Given the description of an element on the screen output the (x, y) to click on. 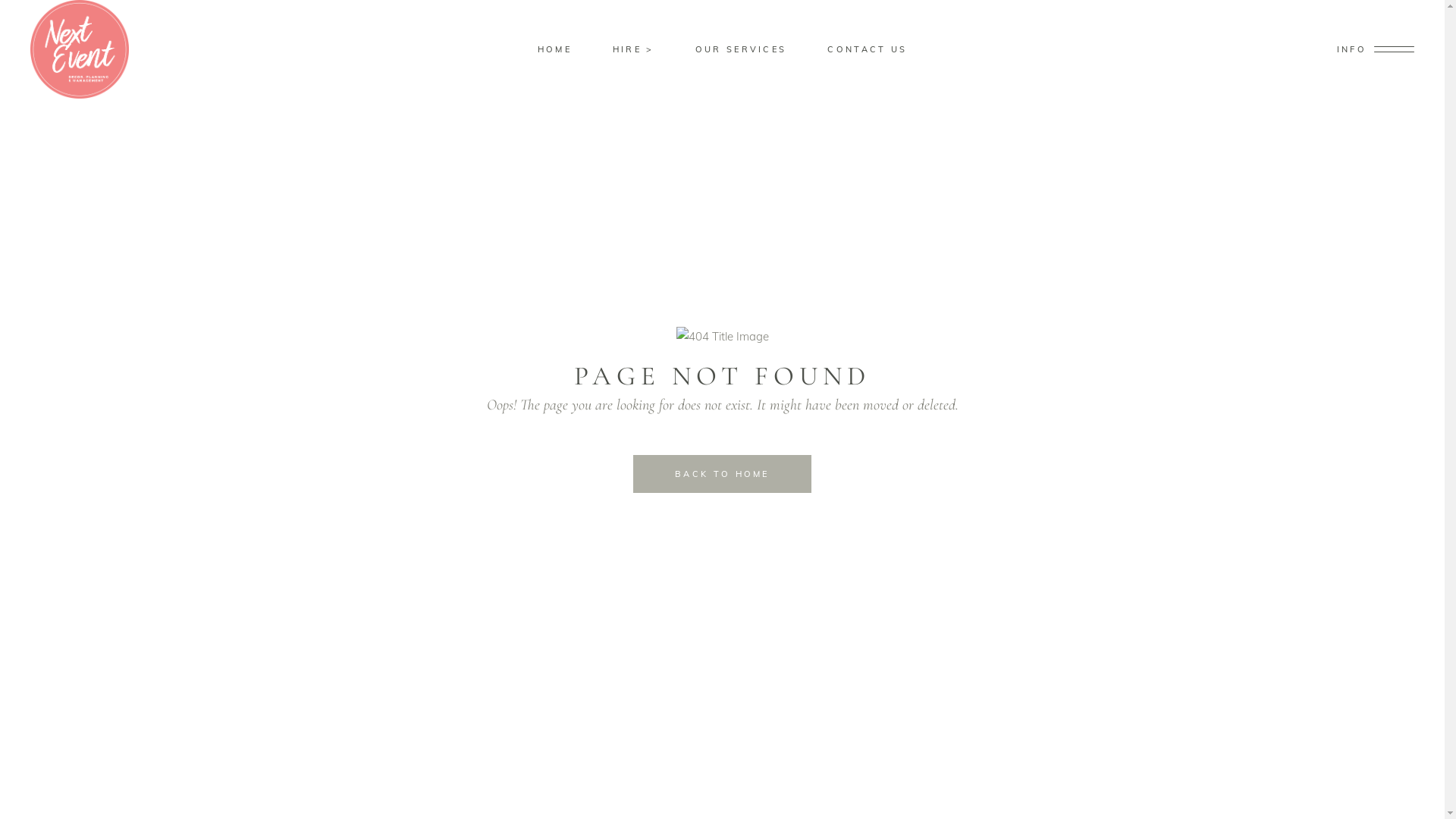
HOME Element type: text (554, 49)
HIRE > Element type: text (633, 49)
BACK TO HOME Element type: text (722, 473)
CONTACT US Element type: text (866, 49)
INFO Element type: text (1375, 48)
OUR SERVICES Element type: text (740, 49)
